Given the description of an element on the screen output the (x, y) to click on. 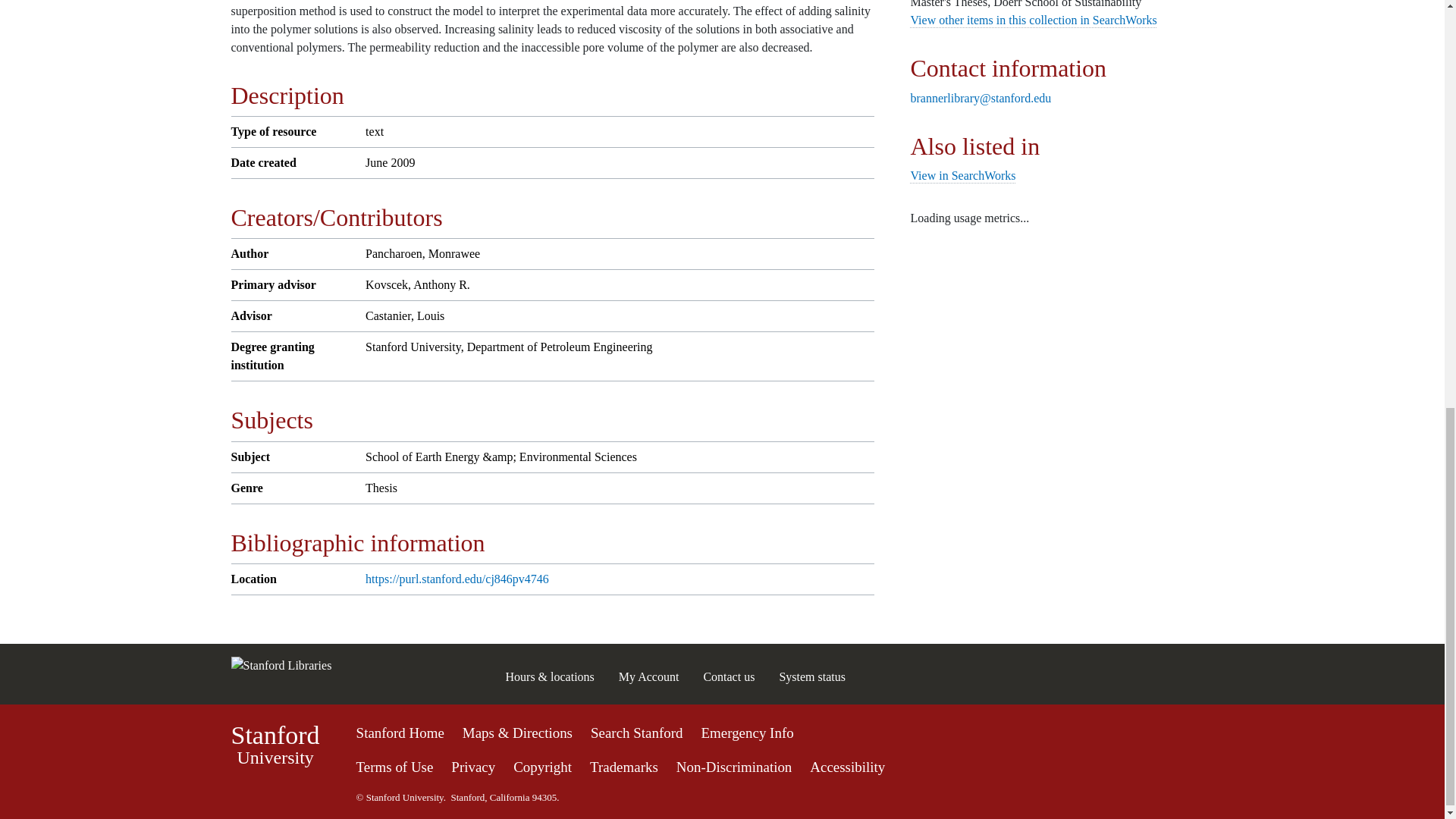
Terms of use for sites (394, 766)
Ownership and use of Stanford trademarks and images (623, 766)
View other items in this collection in SearchWorks (1033, 19)
My Account (648, 676)
Privacy and cookie policy (473, 766)
Common Stanford resources (722, 763)
View in SearchWorks (962, 174)
System status (811, 676)
Report web accessibility issues (847, 766)
Contact us (728, 676)
